Given the description of an element on the screen output the (x, y) to click on. 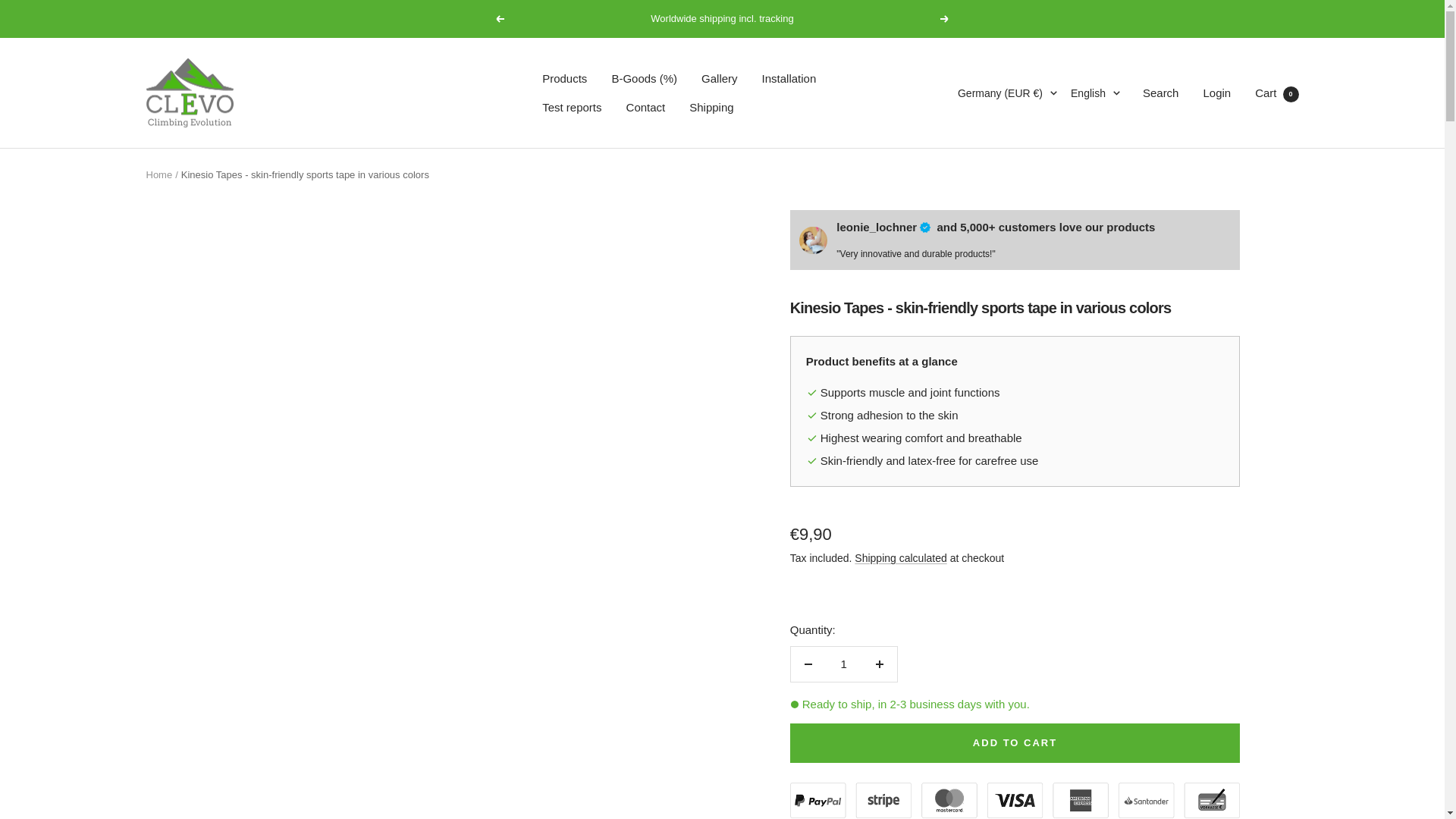
CN (950, 445)
AU (950, 220)
HR (950, 495)
EE (950, 595)
CY (950, 519)
CZ (950, 545)
CA (950, 395)
Previous (499, 18)
1 (843, 664)
BE (950, 320)
Products (563, 78)
CL (950, 420)
DE (950, 720)
AL (950, 145)
Gallery (719, 78)
